Given the description of an element on the screen output the (x, y) to click on. 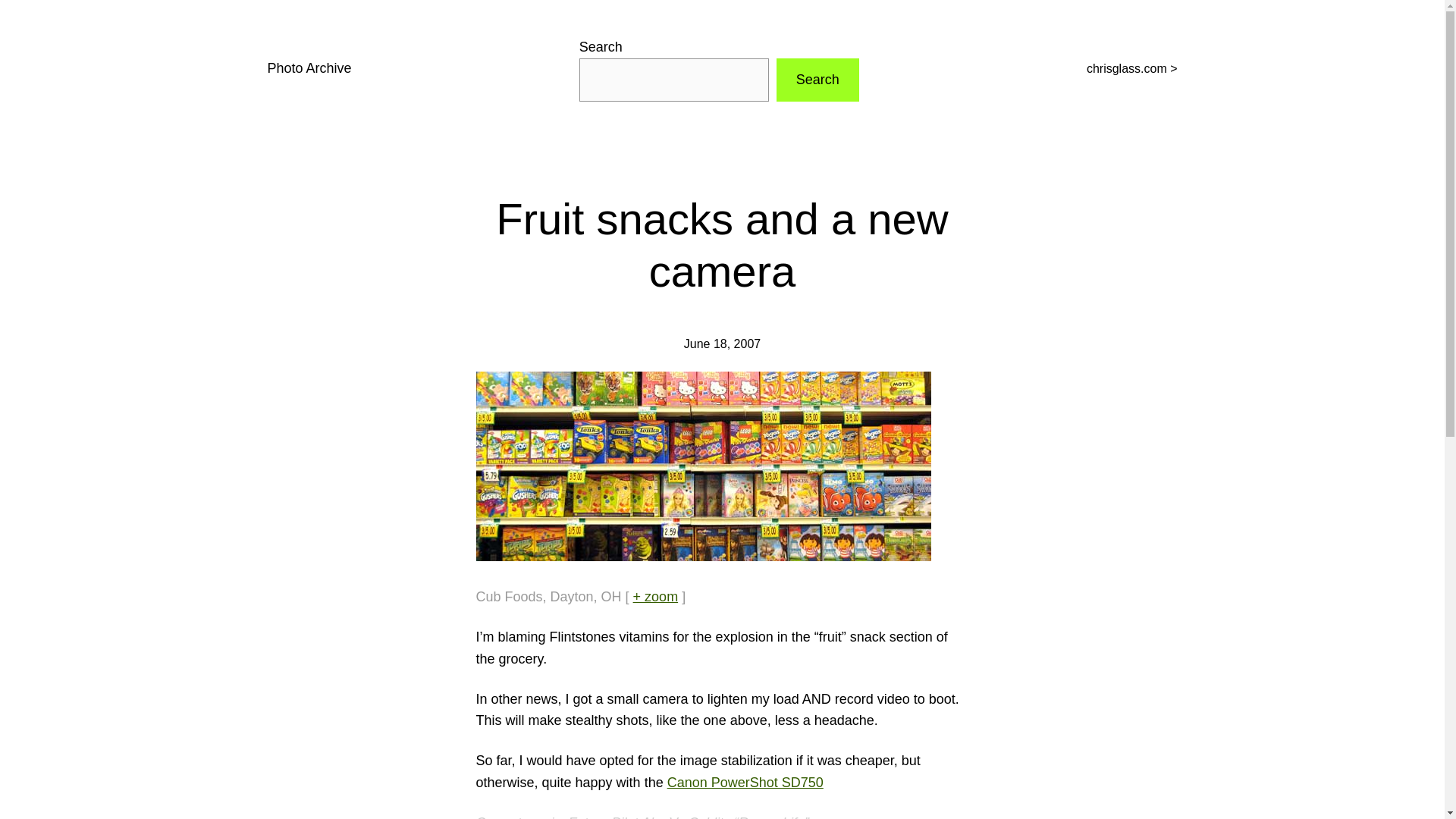
Search (817, 79)
Canon PowerShot SD750 (745, 782)
Photo Archive (308, 68)
